Given the description of an element on the screen output the (x, y) to click on. 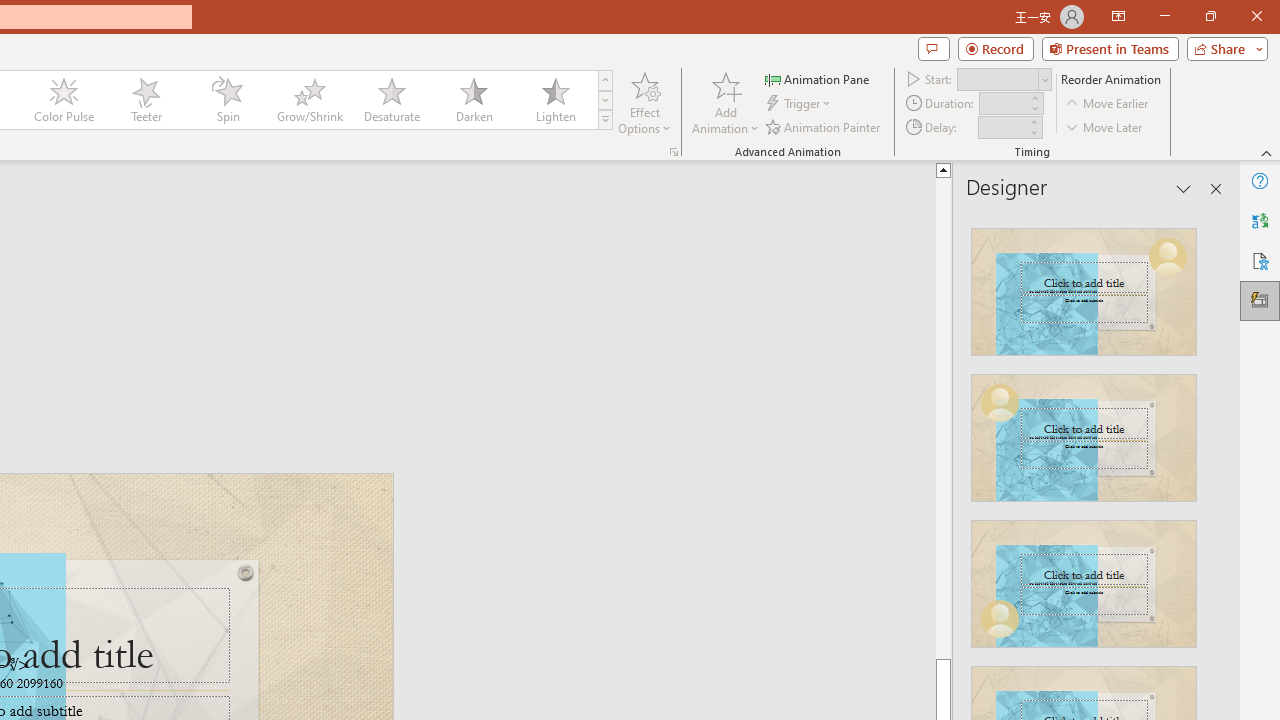
More Options... (673, 151)
Animation Delay (1002, 127)
Effect Options (644, 102)
Lighten (555, 100)
Less (1033, 132)
Darken (473, 100)
